Given the description of an element on the screen output the (x, y) to click on. 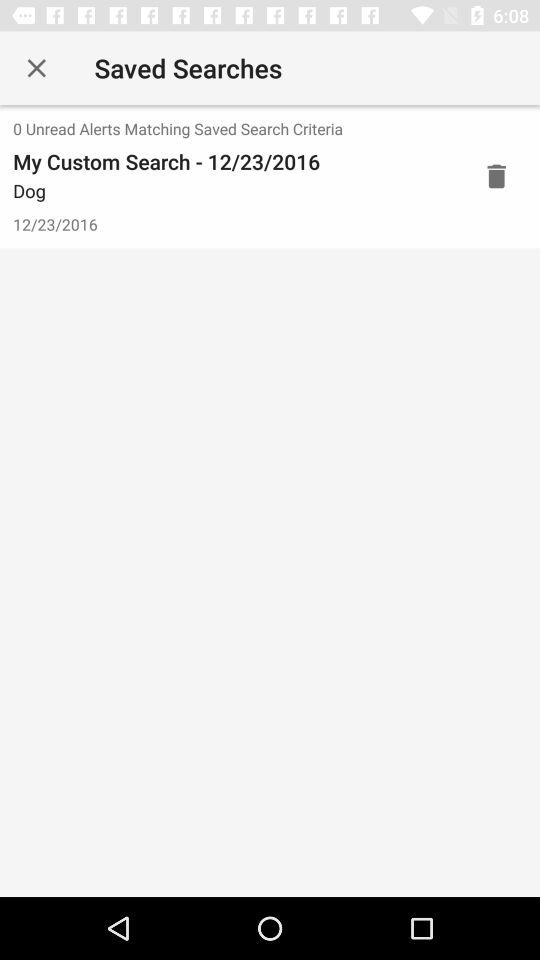
launch the item next to my custom search (496, 176)
